Given the description of an element on the screen output the (x, y) to click on. 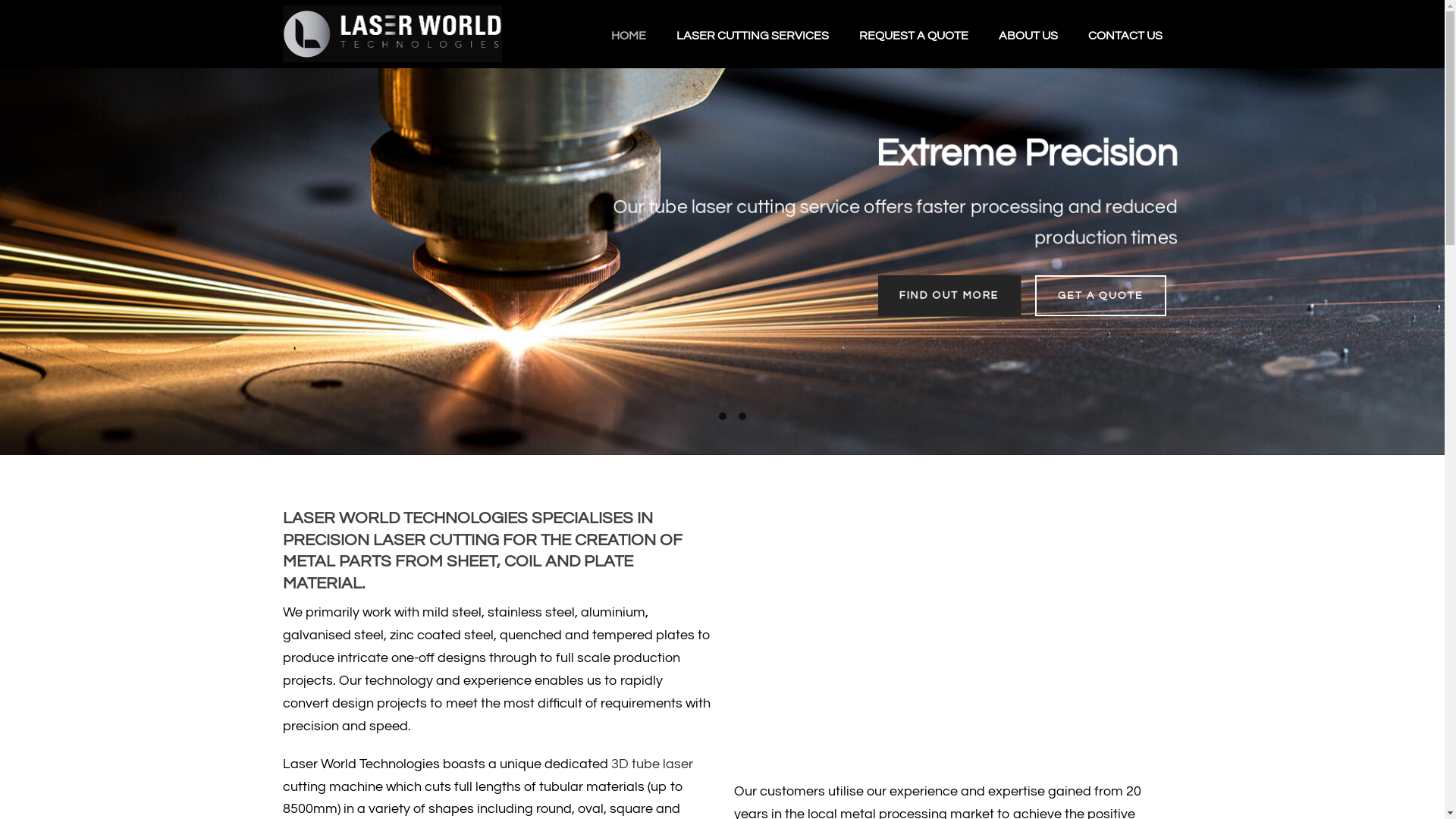
GET A QUOTE Element type: text (1099, 295)
CONTACT US Element type: text (1124, 34)
HOME Element type: text (628, 34)
FIND OUT MORE Element type: text (949, 295)
3D tube laser Element type: text (652, 763)
REQUEST A QUOTE Element type: text (912, 34)
LASER CUTTING SERVICES Element type: text (752, 34)
ABOUT US Element type: text (1027, 34)
